Given the description of an element on the screen output the (x, y) to click on. 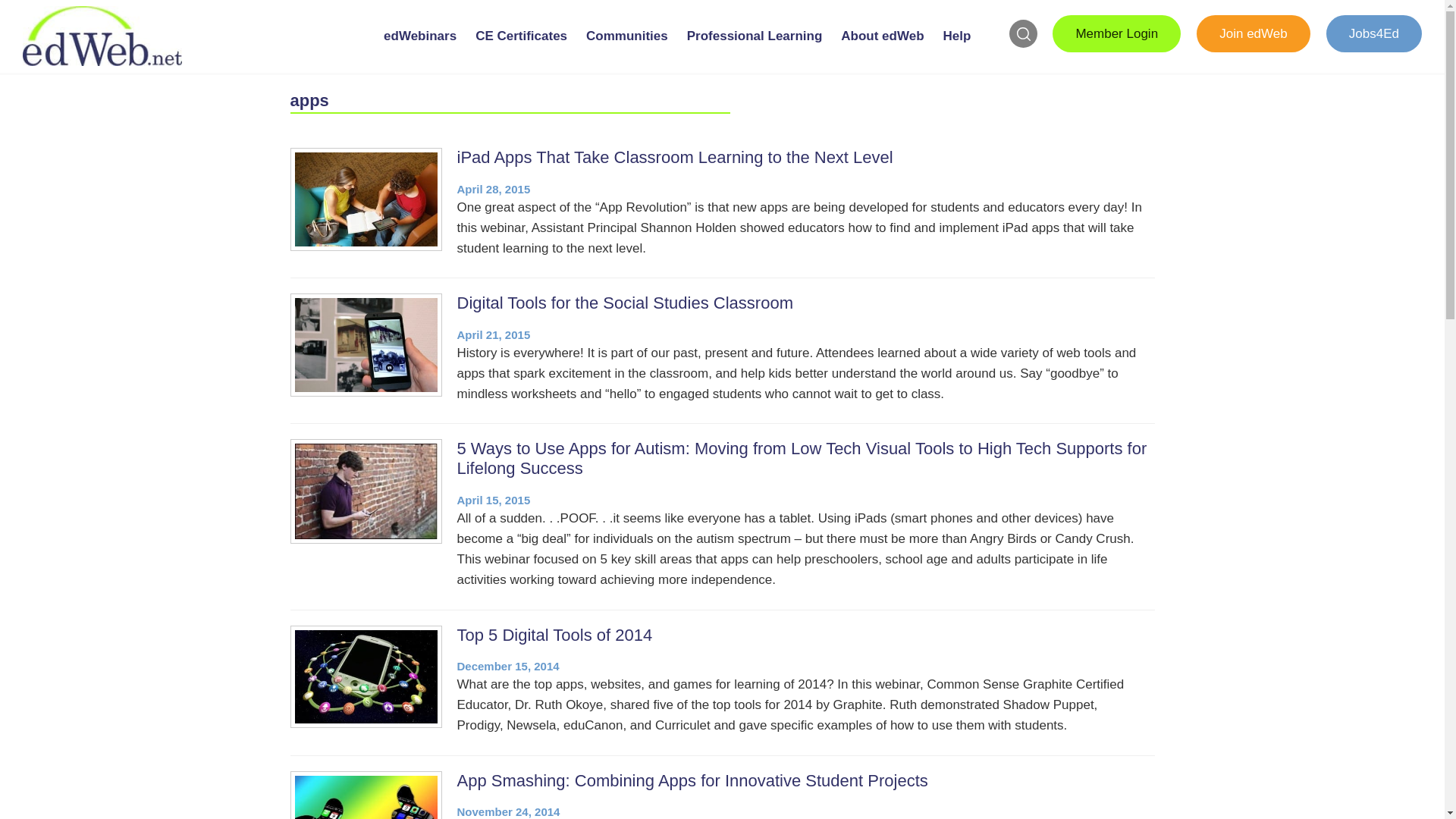
About edWeb (882, 49)
Professional Learning (754, 49)
CE Certificates (520, 49)
Permalink to Digital Tools for the Social Studies Classroom (624, 302)
Permalink to Top 5 Digital Tools of 2014 (554, 634)
